Given the description of an element on the screen output the (x, y) to click on. 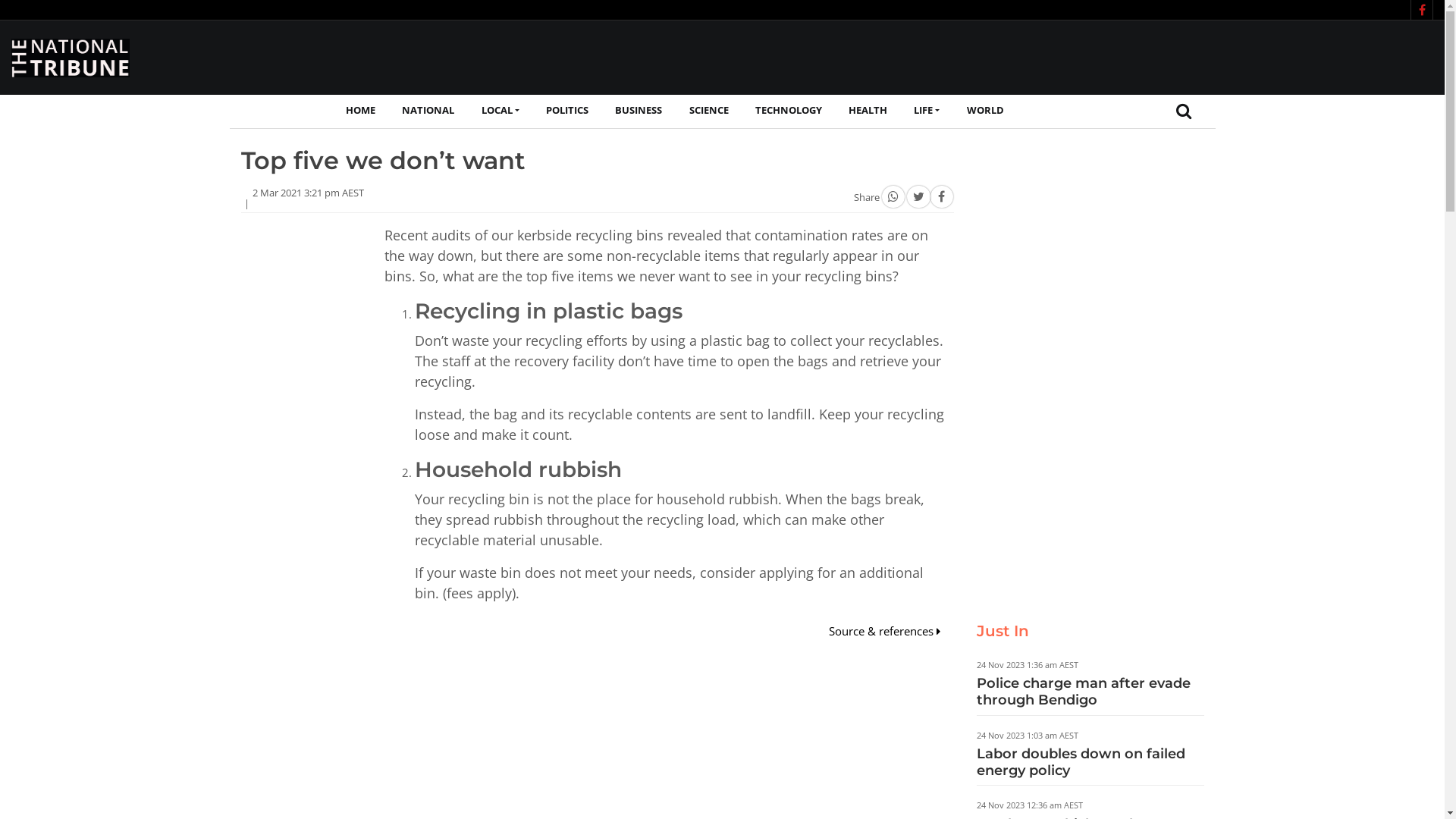
LOCAL Element type: text (500, 111)
Advertisement Element type: hover (301, 452)
Advertisement Element type: hover (1090, 371)
WORLD Element type: text (984, 111)
Advertisement Element type: hover (663, 728)
POLITICS Element type: text (567, 111)
Police charge man after evade through Bendigo Element type: text (1083, 691)
NATIONAL Element type: text (428, 111)
HEALTH Element type: text (867, 111)
SCIENCE Element type: text (708, 111)
Advertisement Element type: hover (1157, 55)
Labor doubles down on failed energy policy Element type: text (1080, 761)
BUSINESS Element type: text (638, 111)
LIFE Element type: text (926, 111)
Source & references Element type: text (883, 630)
HOME Element type: text (360, 111)
TECHNOLOGY Element type: text (787, 111)
